Given the description of an element on the screen output the (x, y) to click on. 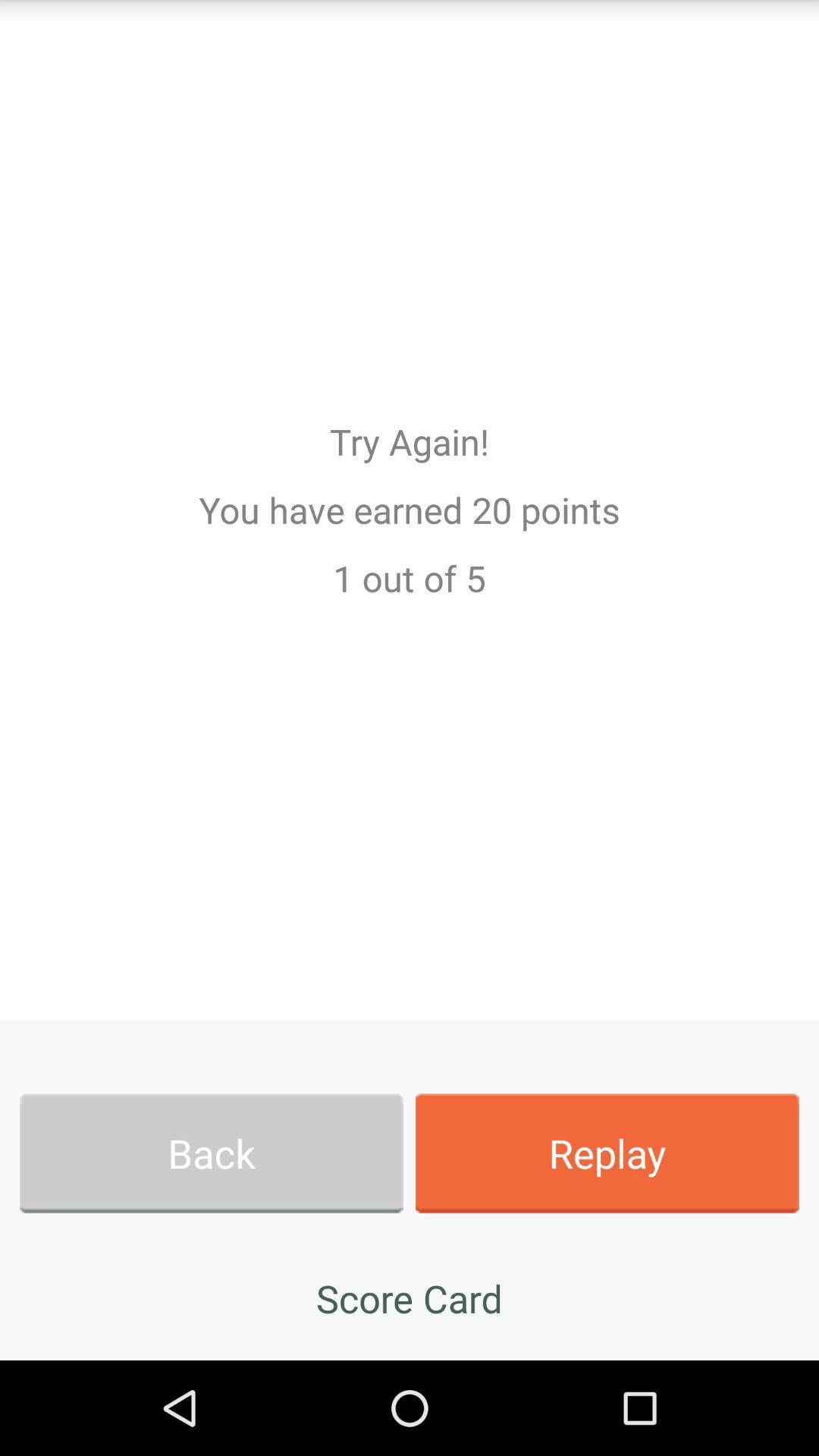
swipe until score card icon (409, 1298)
